Given the description of an element on the screen output the (x, y) to click on. 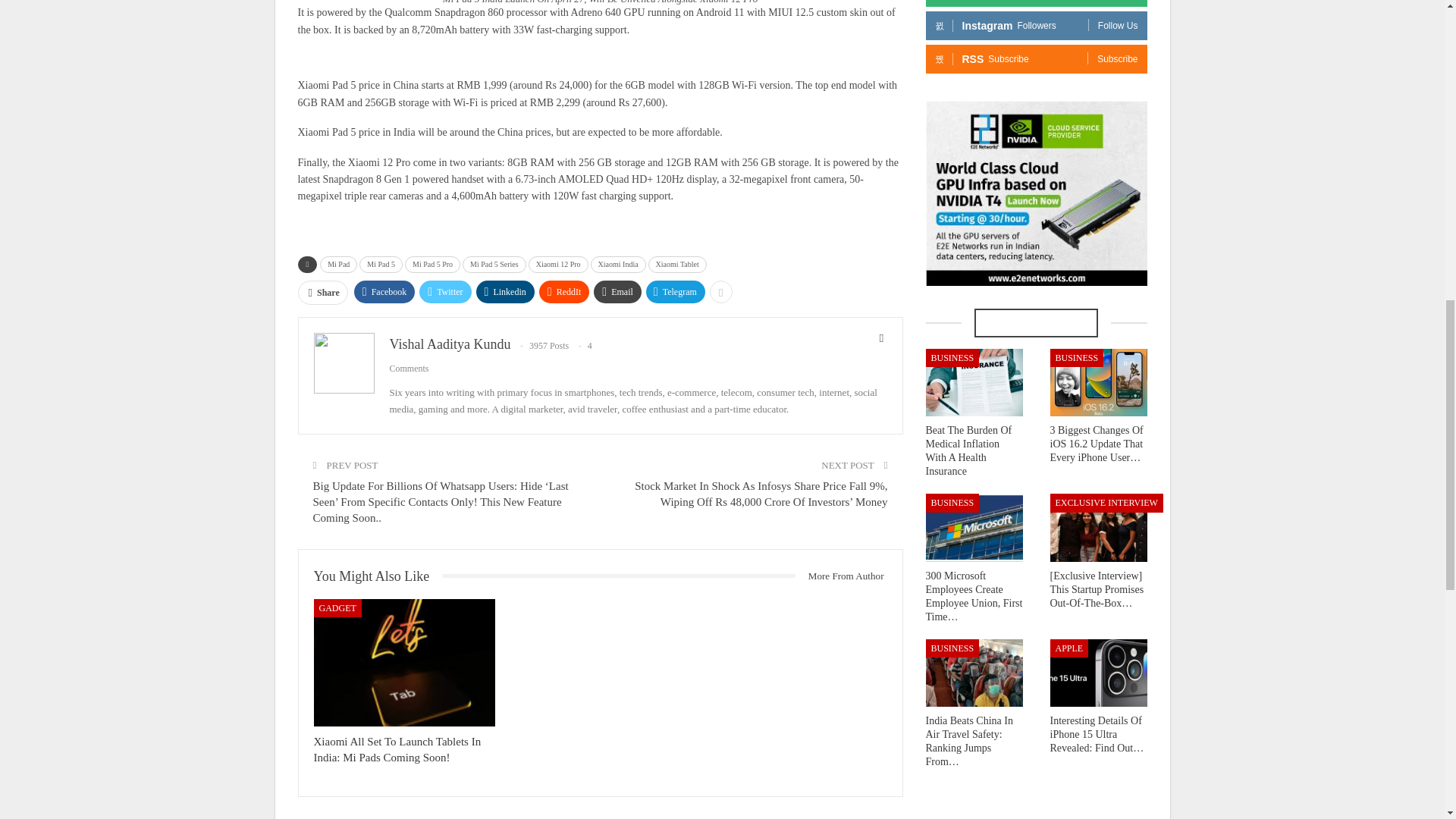
Beat The Burden Of Medical Inflation With A Health Insurance (973, 382)
Mi Pad (338, 264)
